Given the description of an element on the screen output the (x, y) to click on. 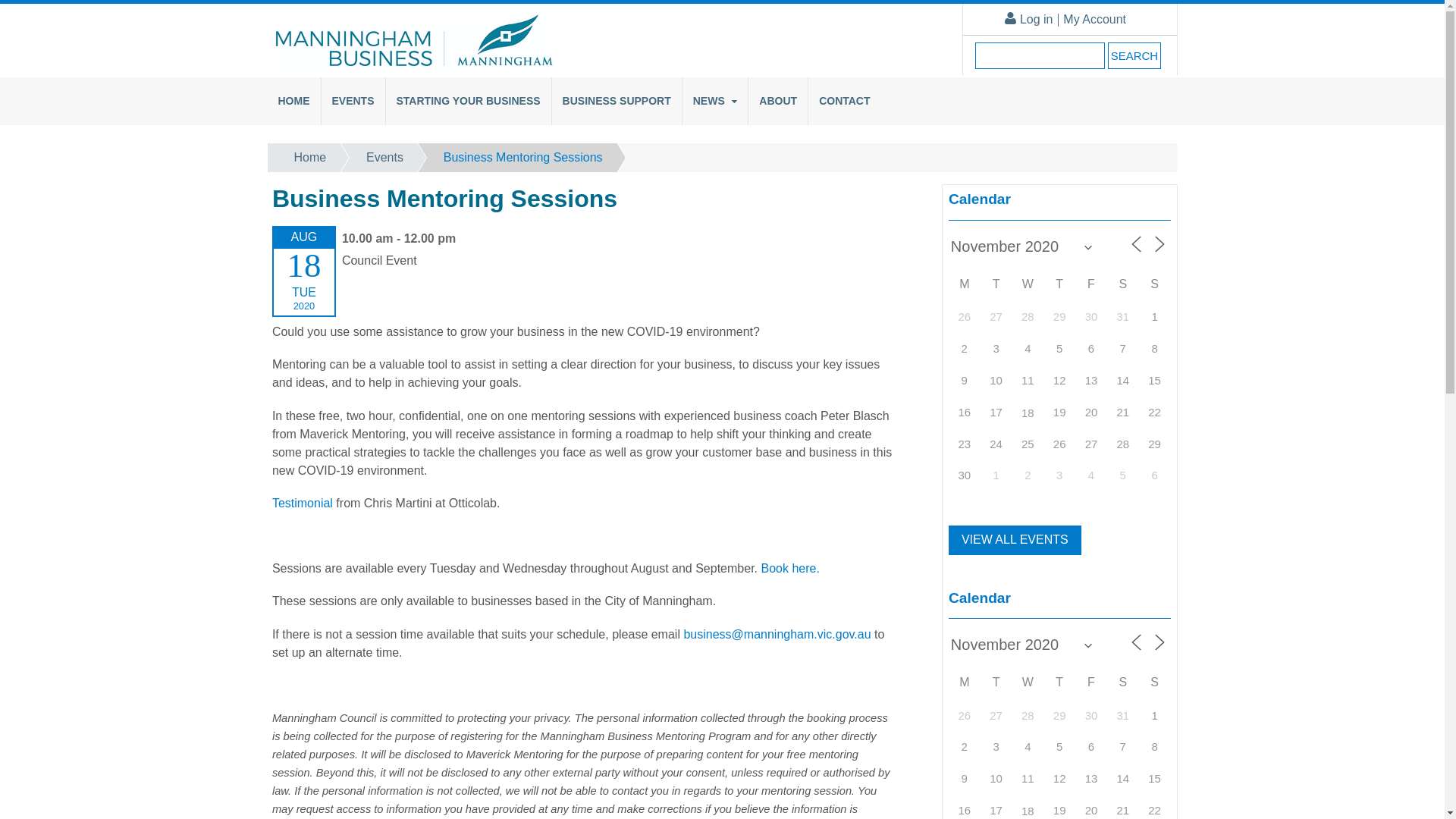
EVENTS Element type: text (352, 100)
business@manningham.vic.gov.au Element type: text (776, 633)
VIEW ALL EVENTS Element type: text (1014, 539)
My Account Element type: text (1089, 24)
NEWS Element type: text (715, 100)
STARTING YOUR BUSINESS Element type: text (468, 100)
18 Element type: text (1027, 411)
Book here. Element type: text (789, 567)
Testimonial Element type: text (302, 502)
HOME Element type: text (294, 100)
Log in Element type: text (1027, 24)
Home Element type: text (296, 157)
BUSINESS SUPPORT Element type: text (616, 100)
ABOUT Element type: text (777, 100)
SEARCH Element type: text (1133, 55)
Events Element type: text (371, 157)
Manningham @ Work Element type: hover (412, 61)
CONTACT Element type: text (844, 100)
